Given the description of an element on the screen output the (x, y) to click on. 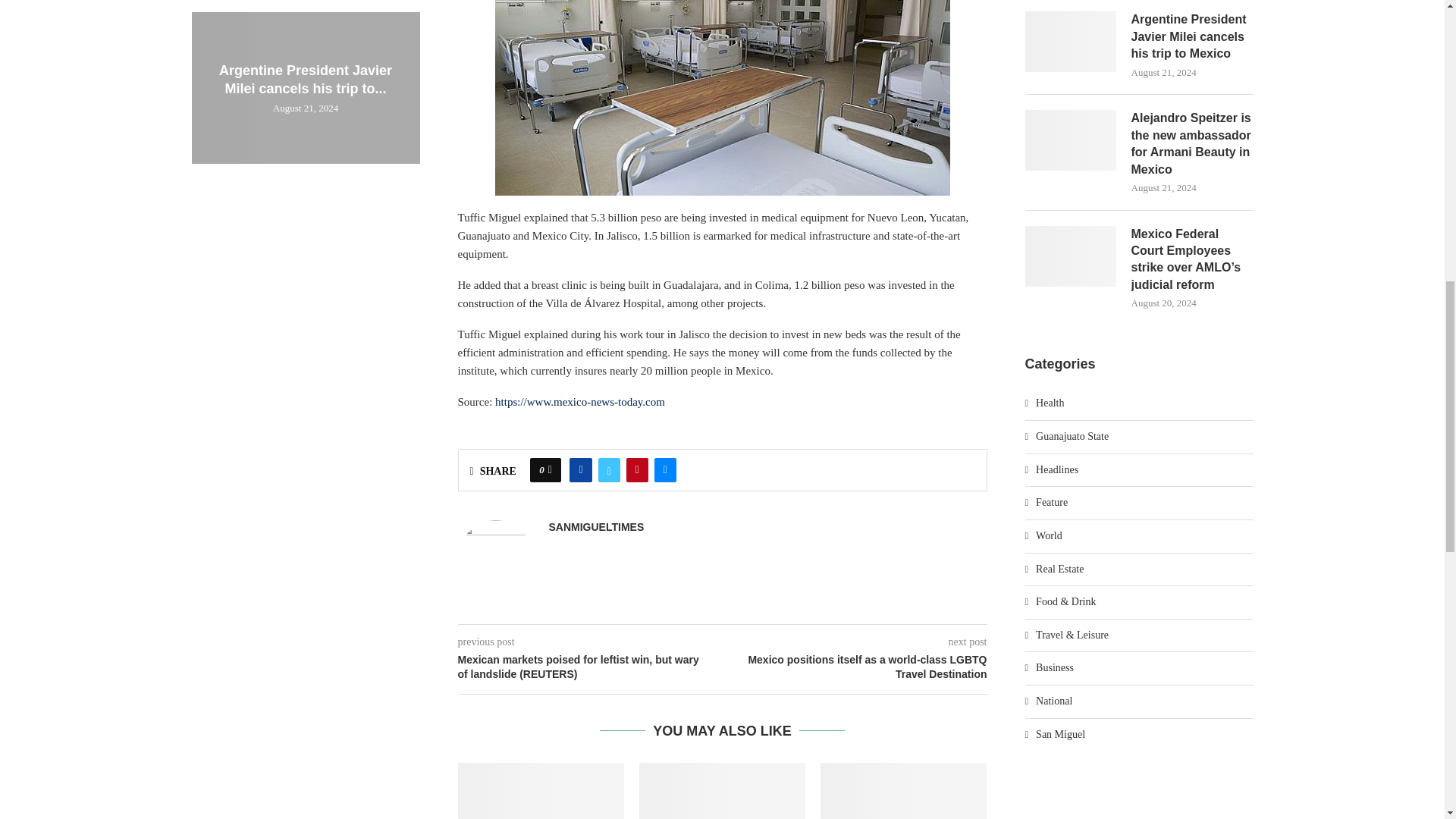
Argentine President Javier Milei cancels his trip to Mexico (722, 790)
Author sanmigueltimes (596, 527)
